Given the description of an element on the screen output the (x, y) to click on. 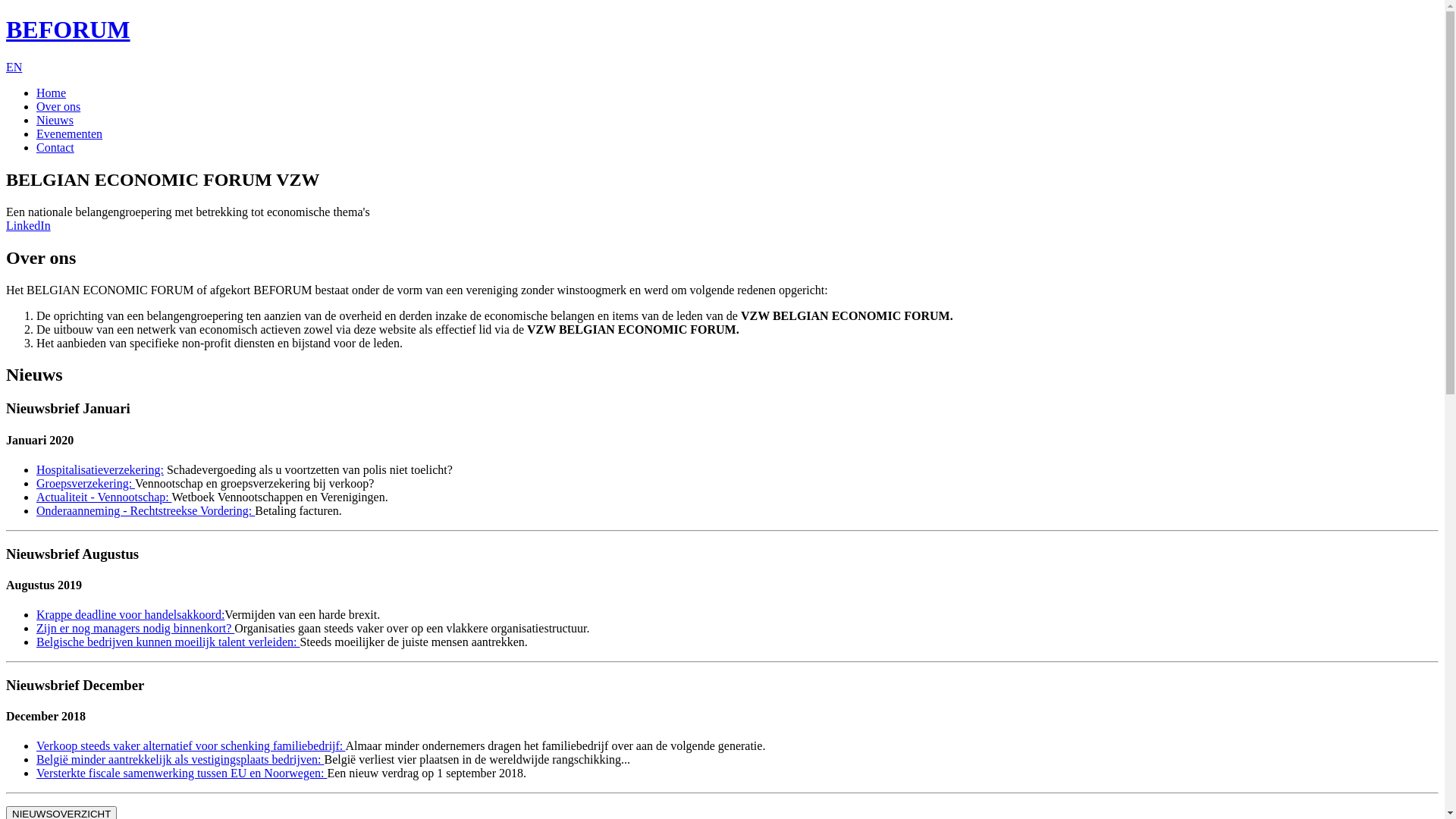
Versterkte fiscale samenwerking tussen EU en Noorwegen: Element type: text (181, 772)
Belgische bedrijven kunnen moeilijk talent verleiden: Element type: text (167, 641)
Over ons Element type: text (58, 106)
Onderaanneming - Rechtstreekse Vordering: Element type: text (145, 510)
Home Element type: text (50, 92)
Groepsverzekering: Element type: text (85, 482)
Nieuws Element type: text (54, 119)
Contact Element type: text (55, 147)
Krappe deadline voor handelsakkoord: Element type: text (130, 614)
EN Element type: text (13, 66)
Hospitalisatieverzekering: Element type: text (99, 469)
Evenementen Element type: text (69, 133)
Zijn er nog managers nodig binnenkort? Element type: text (135, 627)
BEFORUM Element type: text (68, 29)
Actualiteit - Vennootschap: Element type: text (103, 496)
LinkedIn Element type: text (28, 225)
